Given the description of an element on the screen output the (x, y) to click on. 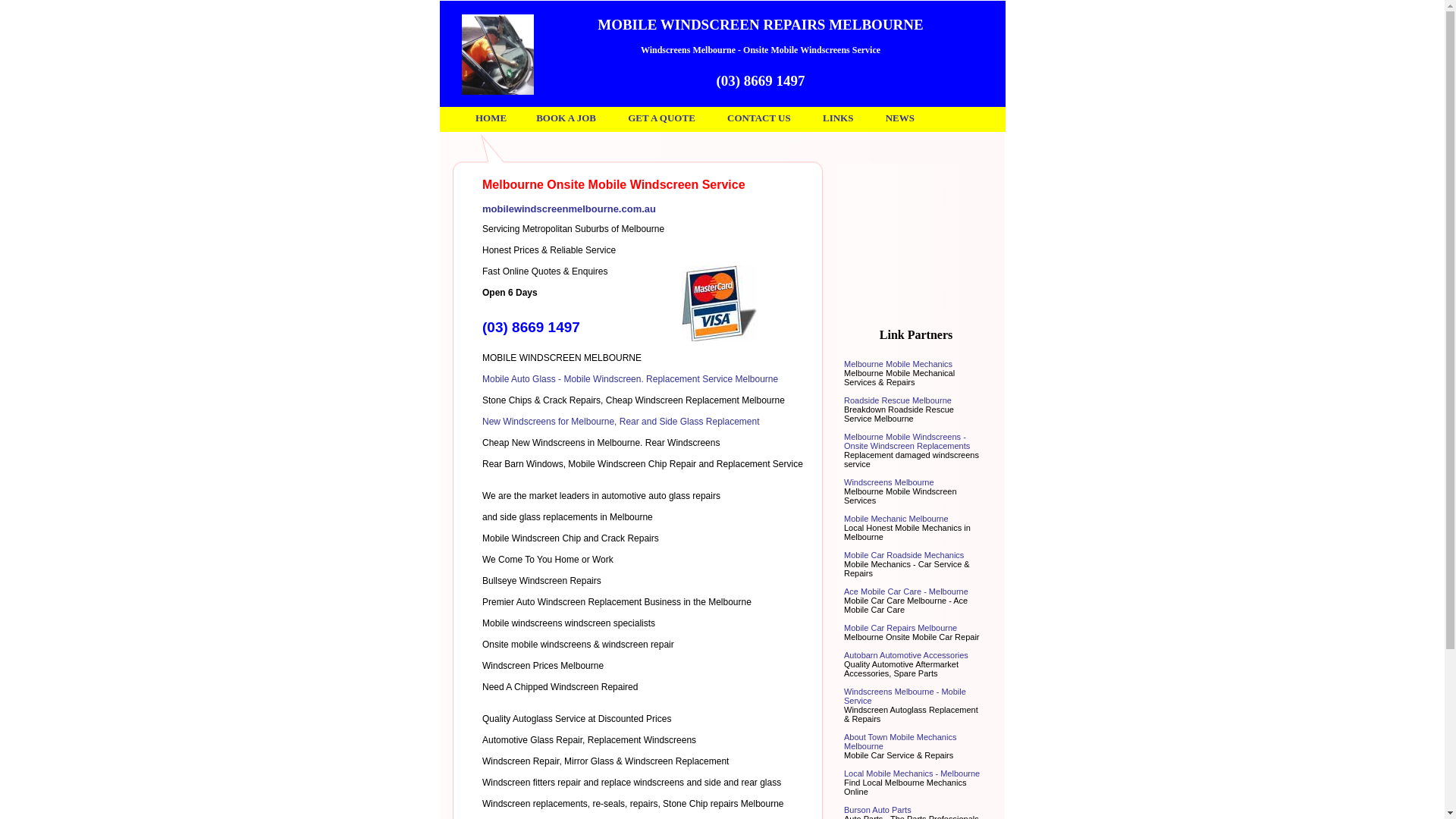
Ace Mobile Car Care - Melbourne Element type: text (906, 591)
Burson Auto Parts Element type: text (877, 809)
Melbourne Mobile Mechanics Element type: text (898, 363)
Mobile Car Repairs Melbourne Element type: text (900, 627)
NEWS Element type: text (899, 117)
LINKS Element type: text (837, 117)
Local Mobile Mechanics - Melbourne Element type: text (911, 773)
BOOK A JOB Element type: text (566, 117)
Windscreens Melbourne - Mobile Service Element type: text (905, 696)
CONTACT US Element type: text (758, 117)
About Town Mobile Mechanics Melbourne Element type: text (900, 741)
HOME Element type: text (490, 117)
Roadside Rescue Melbourne Element type: text (897, 399)
Mobile Mechanic Melbourne Element type: text (896, 518)
Windscreens Melbourne Element type: text (889, 481)
Autobarn Automotive Accessories Element type: text (906, 654)
mobilewindscreenmelbourne.com.au Element type: text (568, 208)
Mobile Car Roadside Mechanics Element type: text (903, 554)
GET A QUOTE Element type: text (661, 117)
